Given the description of an element on the screen output the (x, y) to click on. 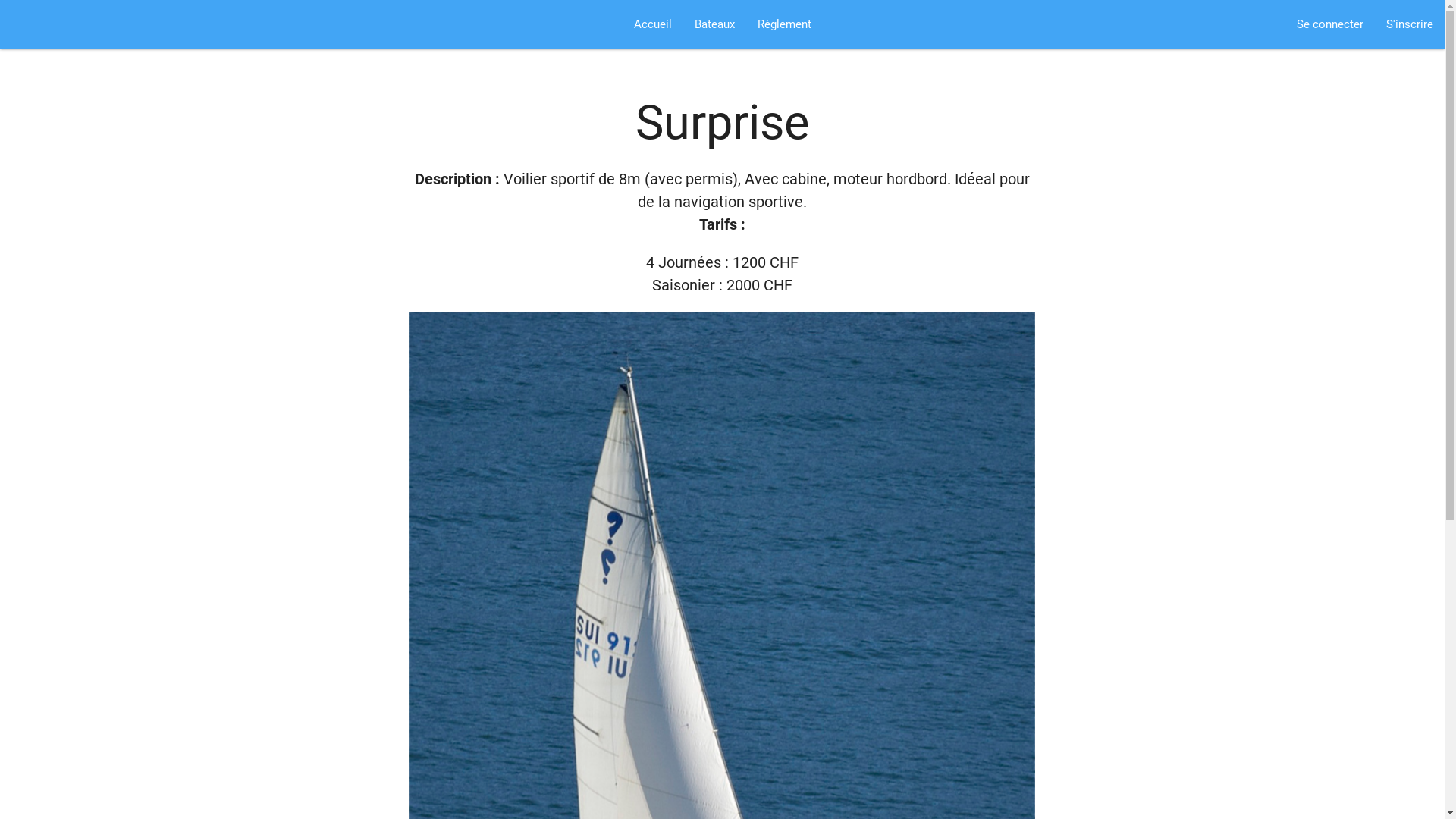
S'inscrire Element type: text (1409, 24)
Bateaux Element type: text (713, 24)
Accueil Element type: text (651, 24)
Se connecter Element type: text (1329, 24)
